Given the description of an element on the screen output the (x, y) to click on. 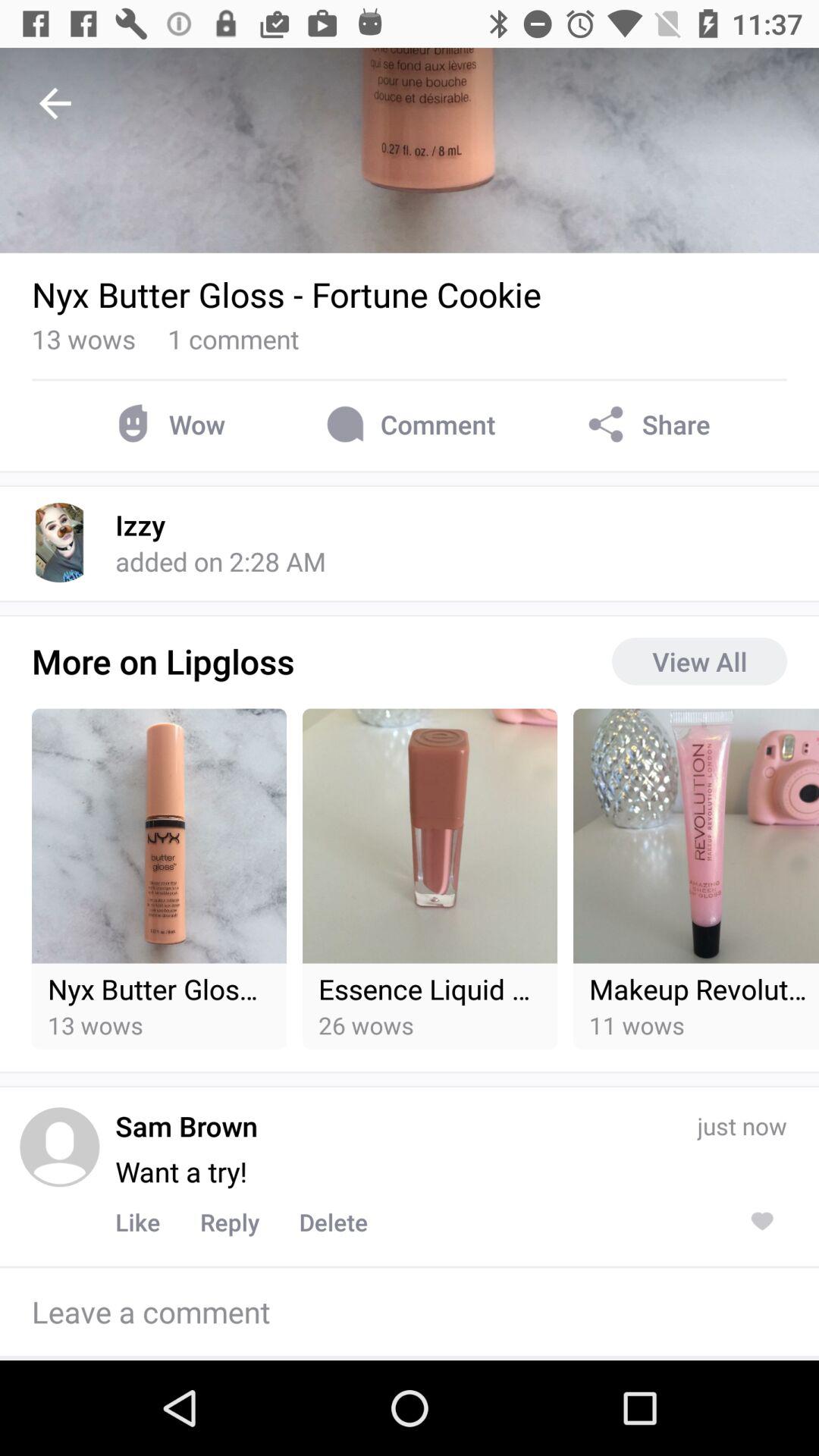
turn on the view all (699, 661)
